Given the description of an element on the screen output the (x, y) to click on. 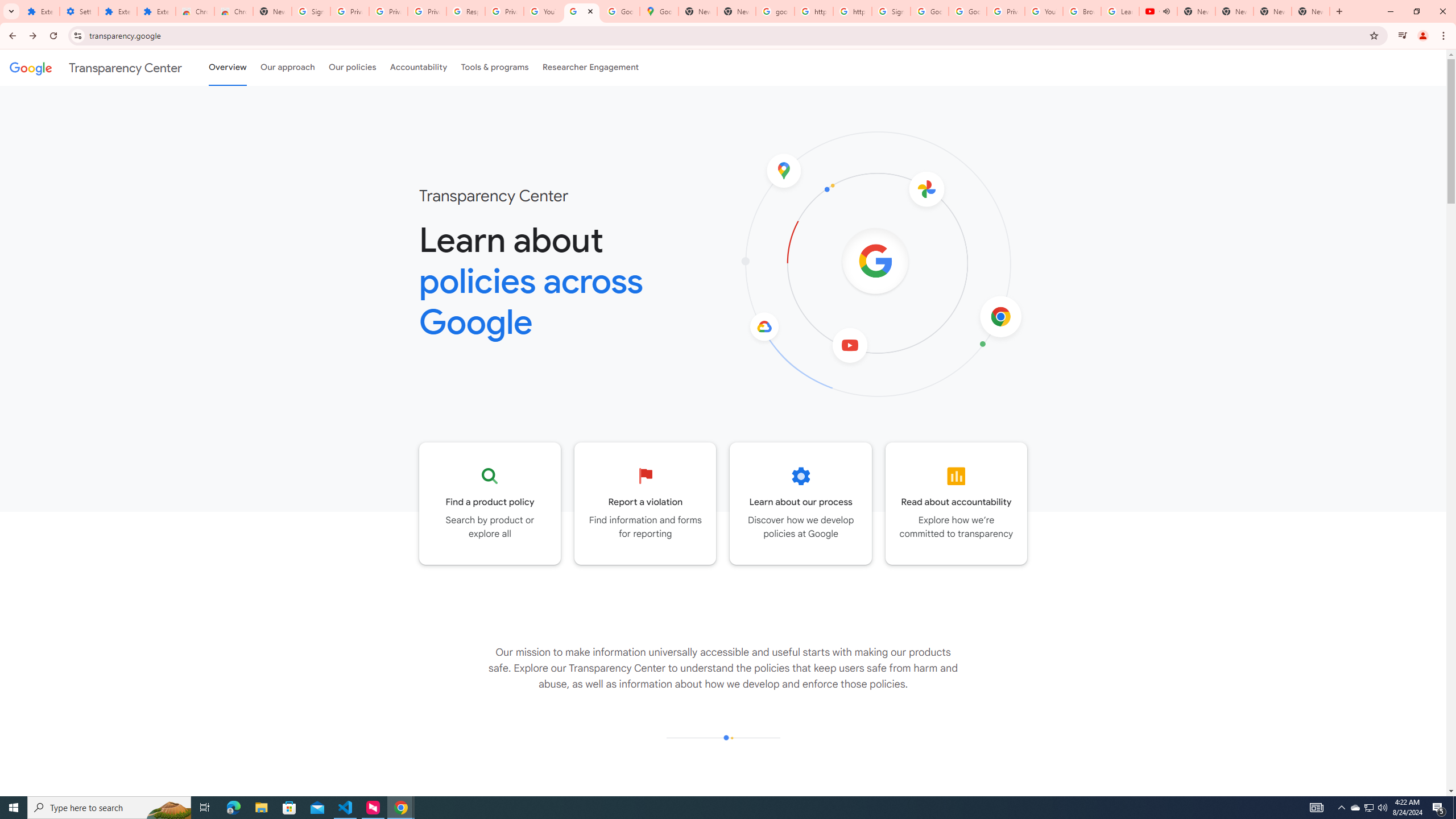
https://scholar.google.com/ (852, 11)
Our approach (287, 67)
YouTube (542, 11)
Extensions (40, 11)
Settings (79, 11)
Sign in - Google Accounts (310, 11)
YouTube (1043, 11)
New Tab (272, 11)
